Given the description of an element on the screen output the (x, y) to click on. 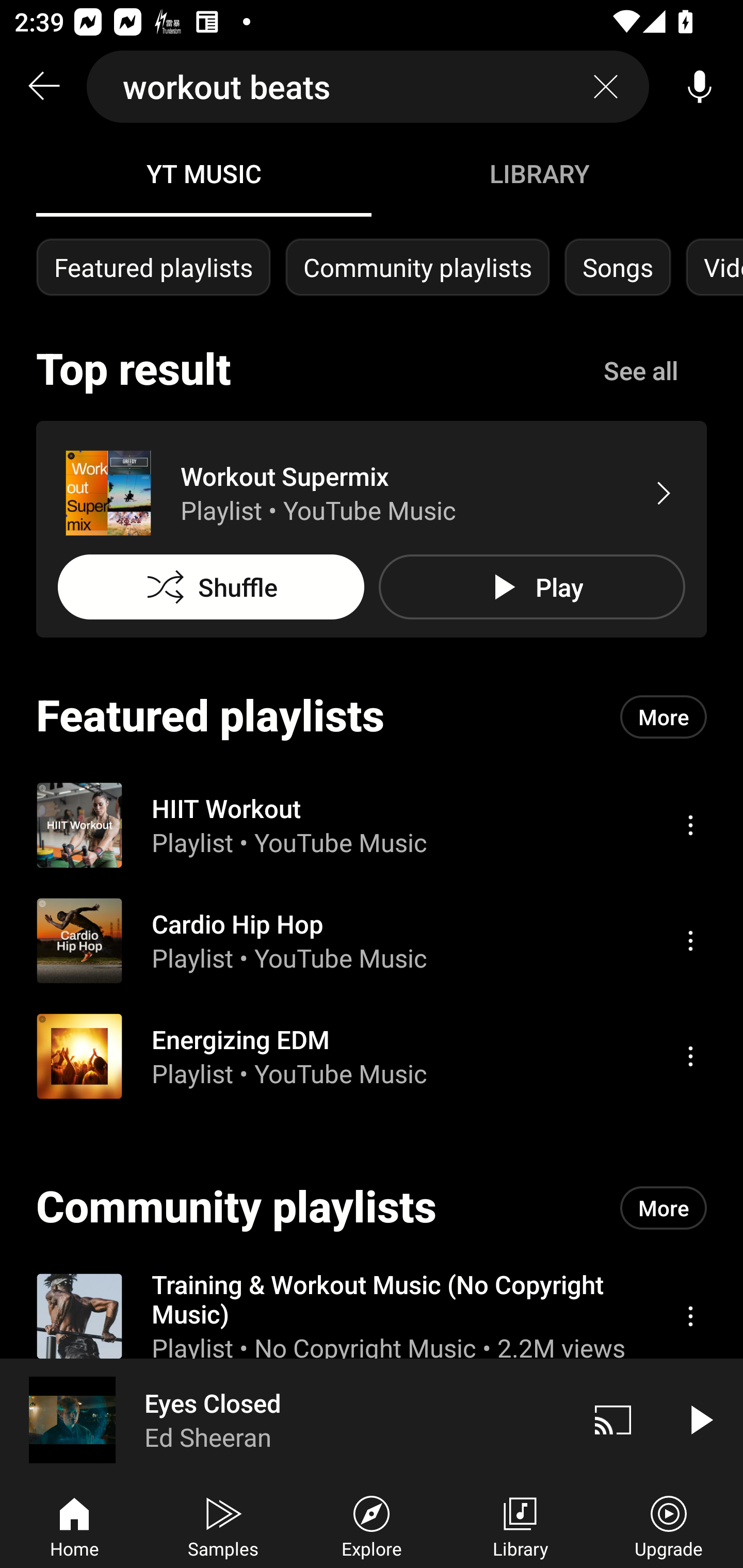
Search back (43, 86)
workout beats (367, 86)
Clear search (605, 86)
Voice search (699, 86)
Library LIBRARY (538, 173)
See all (640, 369)
Shuffle (210, 587)
Play PLAY ALL (531, 587)
Featured playlists More More (371, 716)
More (663, 716)
Menu (690, 824)
Menu (690, 940)
Menu (690, 1056)
Community playlists More More (371, 1208)
More (663, 1207)
Menu (690, 1315)
Eyes Closed Ed Sheeran (284, 1419)
Cast. Disconnected (612, 1419)
Play video (699, 1419)
Home (74, 1524)
Samples (222, 1524)
Explore (371, 1524)
Library (519, 1524)
Upgrade (668, 1524)
